Given the description of an element on the screen output the (x, y) to click on. 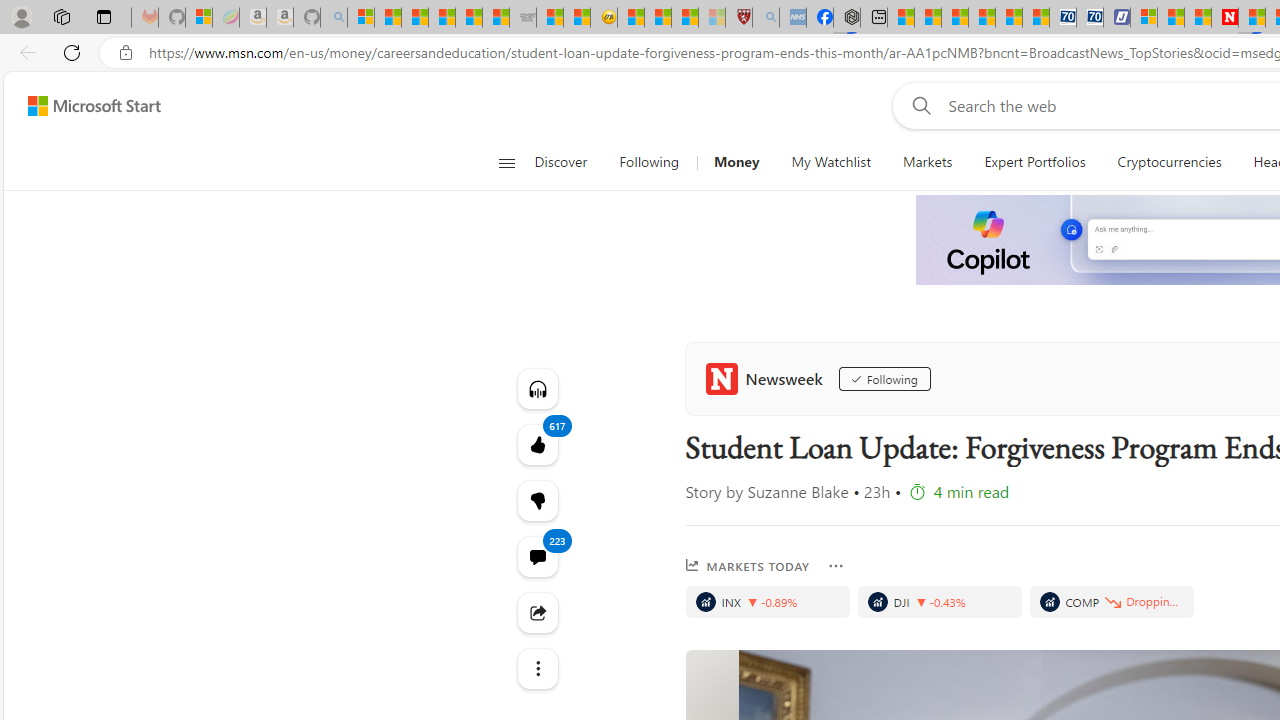
DJI, DOW. Price is 40,712.78. Decreased by -0.43% (939, 601)
My Watchlist (830, 162)
Cryptocurrencies (1169, 162)
617 (537, 500)
